Given the description of an element on the screen output the (x, y) to click on. 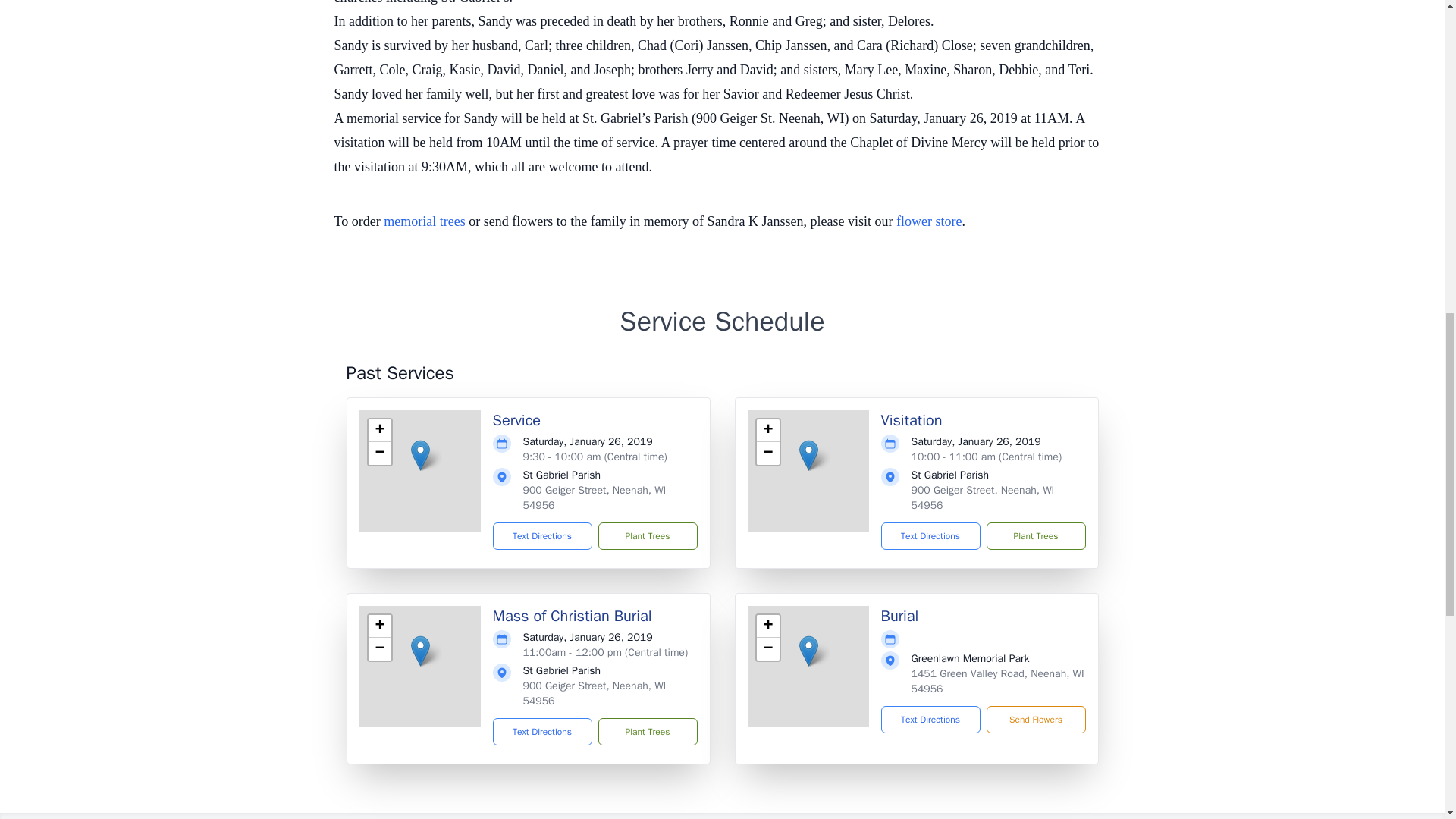
Zoom out (767, 453)
900 Geiger Street, Neenah, WI 54956 (982, 497)
Plant Trees (646, 535)
900 Geiger Street, Neenah, WI 54956 (594, 693)
flower store (928, 221)
Zoom in (379, 430)
memorial trees (424, 221)
900 Geiger Street, Neenah, WI 54956 (594, 497)
Text Directions (542, 731)
Plant Trees (646, 731)
Zoom out (379, 453)
Zoom out (379, 649)
Zoom in (767, 430)
Zoom out (767, 649)
Zoom in (767, 626)
